Given the description of an element on the screen output the (x, y) to click on. 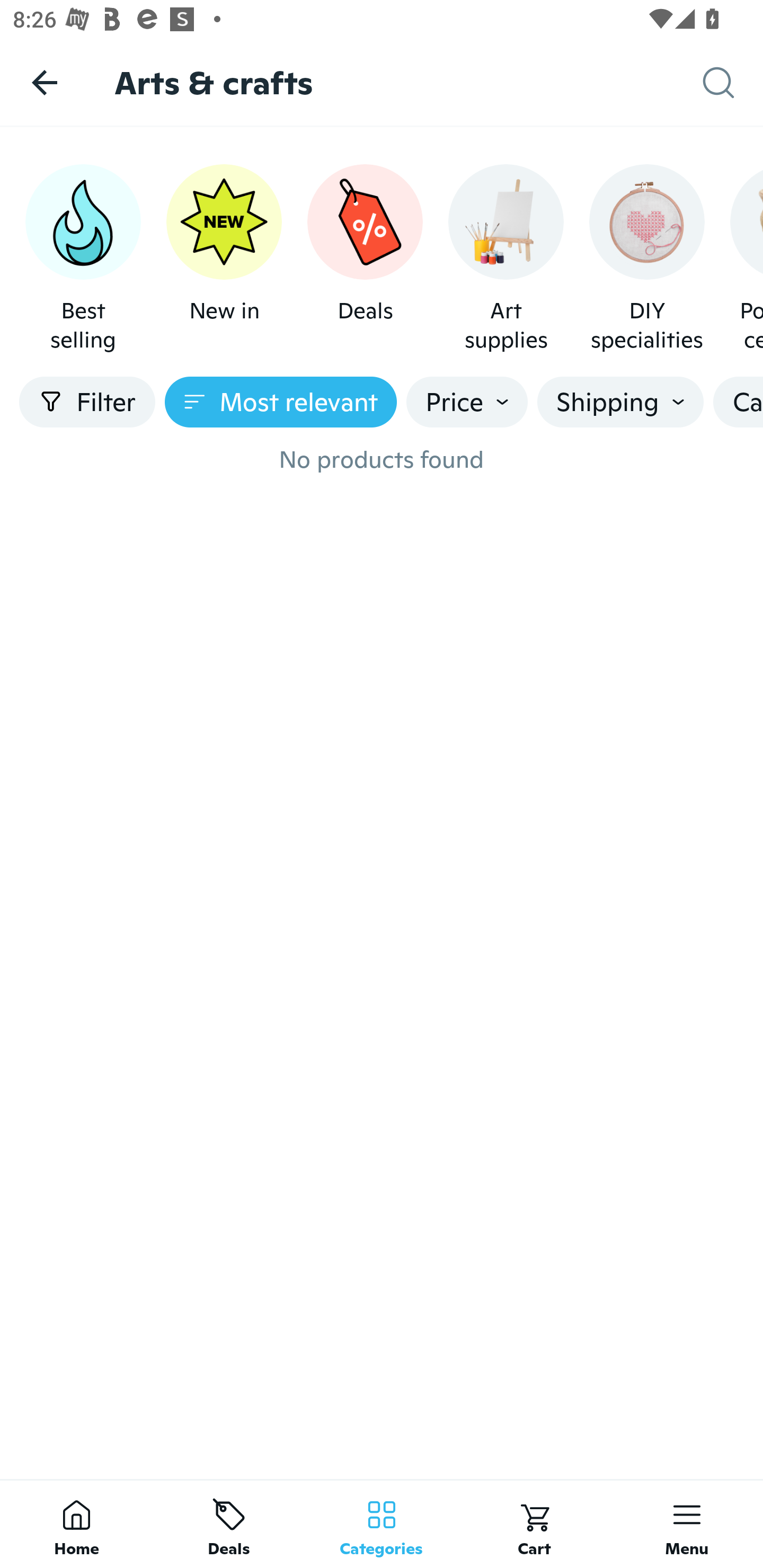
Navigate up (44, 82)
Search (732, 82)
Best selling (83, 259)
New in (223, 259)
Deals (364, 259)
Art supplies (505, 259)
DIY specialities (647, 259)
Filter (86, 402)
Most relevant (280, 402)
Price (466, 402)
Shipping (620, 402)
Home (76, 1523)
Deals (228, 1523)
Categories (381, 1523)
Cart (533, 1523)
Menu (686, 1523)
